Given the description of an element on the screen output the (x, y) to click on. 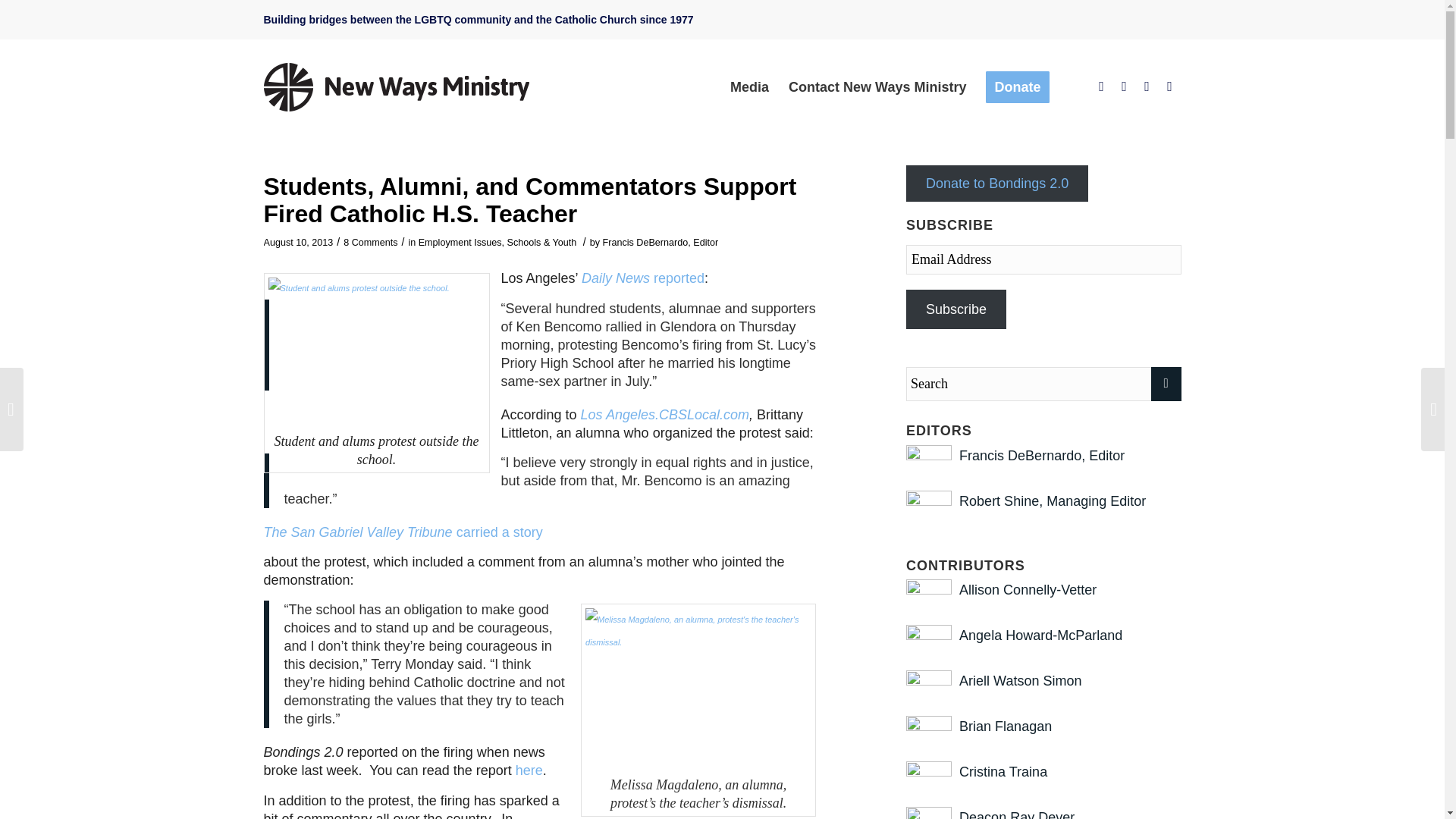
Francis DeBernardo, Editor (660, 242)
Daily News reported (642, 278)
Contact New Ways Ministry (876, 87)
Mail (1169, 86)
Facebook (1101, 86)
Posts by Francis DeBernardo, Editor (660, 242)
The San Gabriel Valley Tribune carried a story (403, 531)
Los Angeles.CBSLocal.com (664, 414)
Posts by Francis DeBernardo, Editor (1041, 455)
here (529, 770)
8 Comments (370, 242)
Twitter (1124, 86)
Employment Issues (460, 242)
Instagram (1146, 86)
